Given the description of an element on the screen output the (x, y) to click on. 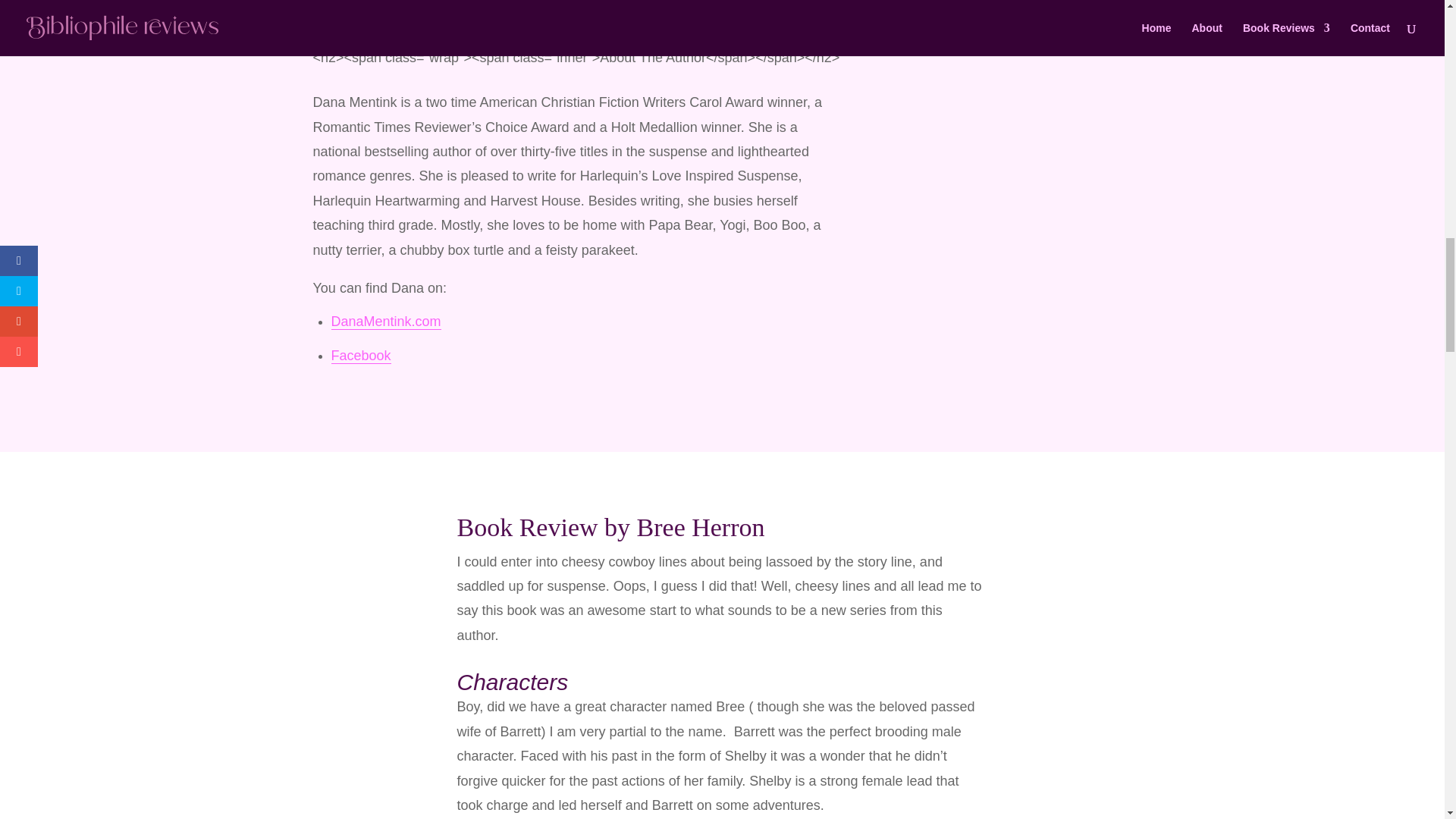
Facebook (360, 355)
DanaMentink.com (385, 321)
